Given the description of an element on the screen output the (x, y) to click on. 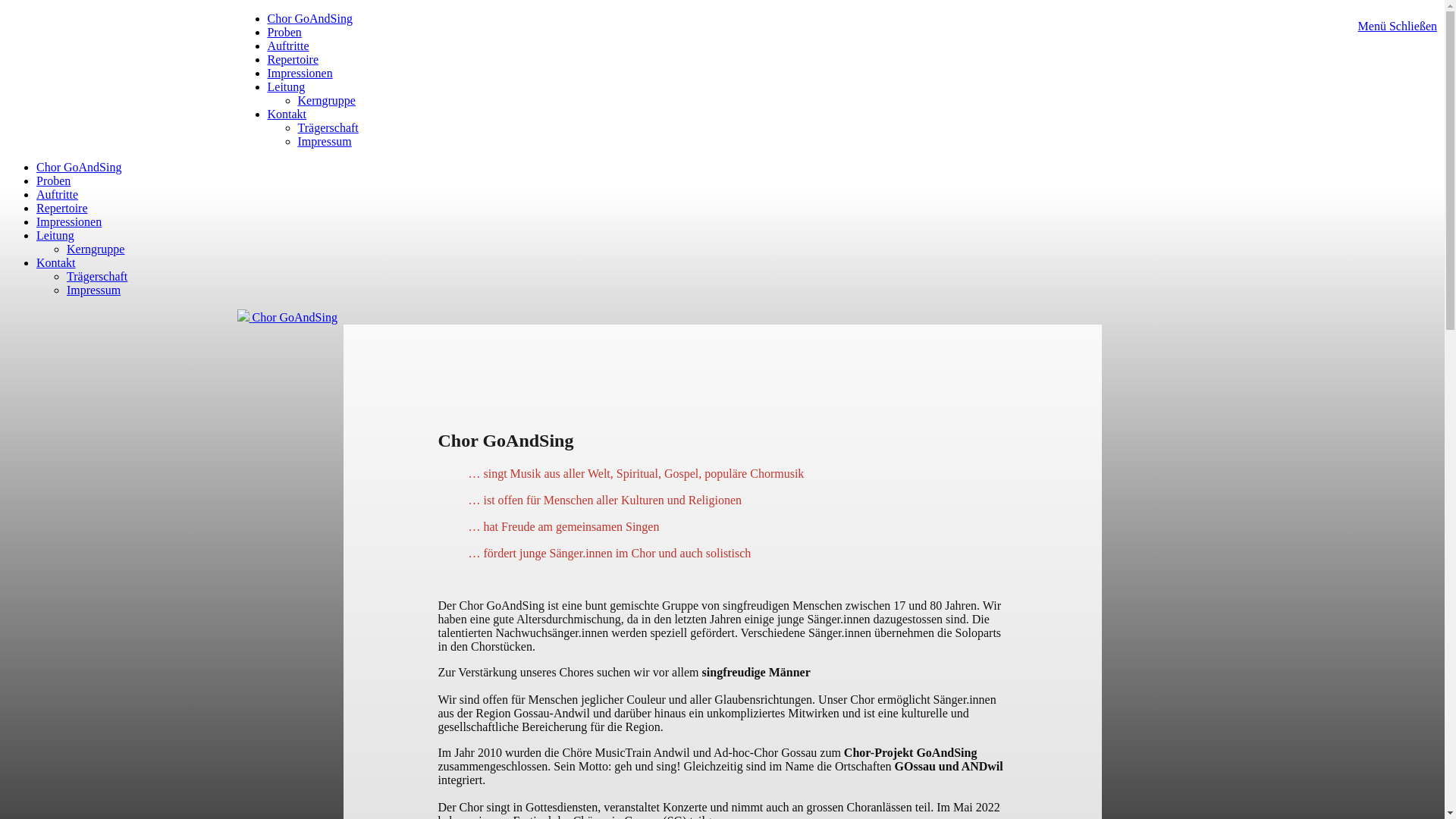
Kerngruppe Element type: text (95, 248)
Kontakt Element type: text (286, 113)
Impressum Element type: text (93, 289)
Repertoire Element type: text (61, 207)
Repertoire Element type: text (292, 59)
Proben Element type: text (283, 31)
Auftritte Element type: text (287, 45)
Chor GoAndSing Element type: text (78, 166)
Impressionen Element type: text (68, 221)
Chor GoAndSing Element type: text (286, 316)
Impressum Element type: text (324, 140)
Chor GoAndSing Element type: text (308, 18)
Leitung Element type: text (55, 235)
Kerngruppe Element type: text (325, 100)
Leitung Element type: text (285, 86)
Auftritte Element type: text (57, 194)
Proben Element type: text (53, 180)
Impressionen Element type: text (299, 72)
Kontakt Element type: text (55, 262)
